Given the description of an element on the screen output the (x, y) to click on. 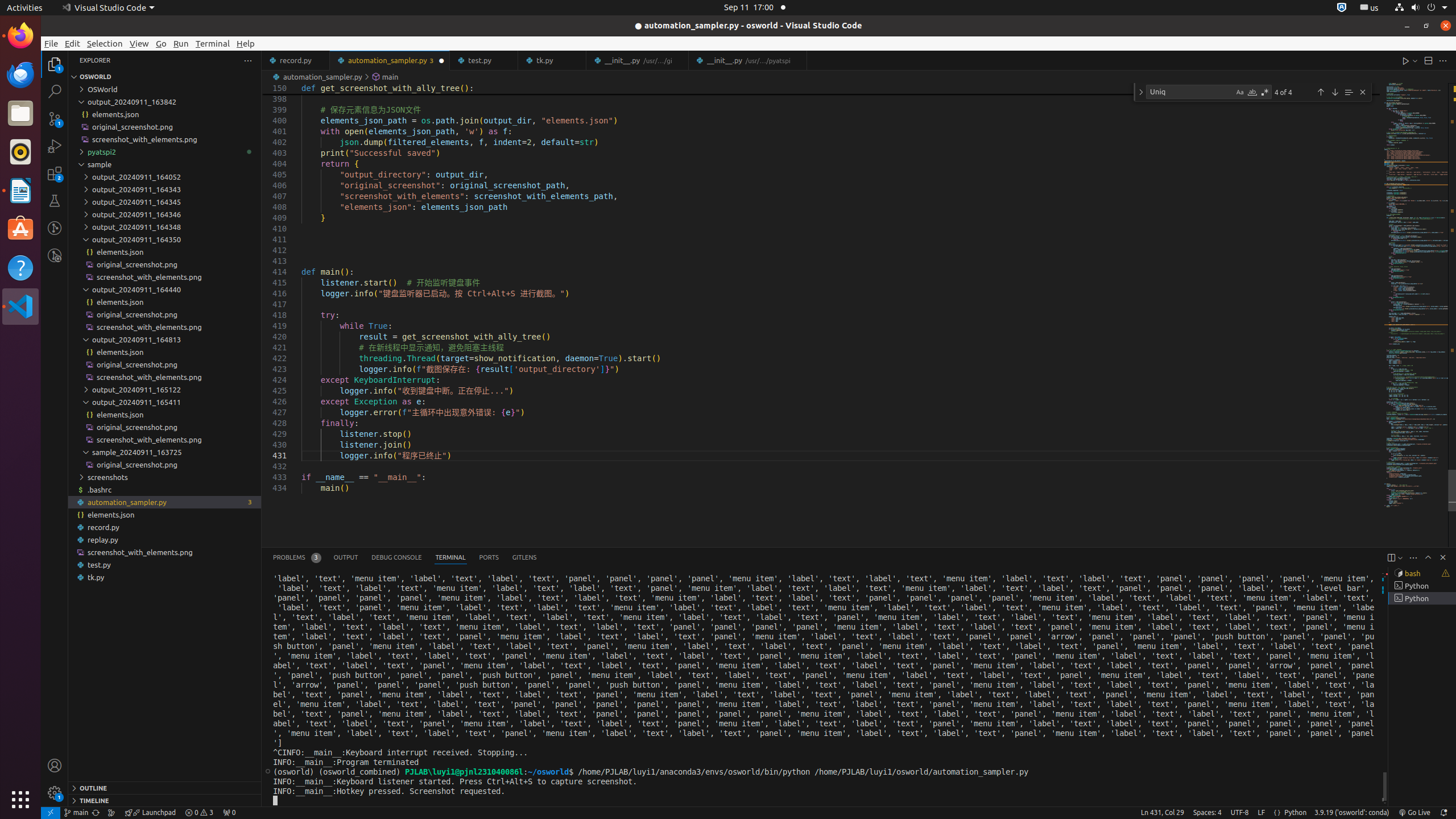
LF Element type: push-button (1261, 812)
output_20240911_164052 Element type: tree-item (164, 176)
Problems (Ctrl+Shift+M) - Total 3 Problems Element type: page-tab (296, 557)
Terminal 5 Python Element type: list-item (1422, 598)
Explorer (Ctrl+Shift+E) - 1 unsaved file Element type: page-tab (54, 63)
